Given the description of an element on the screen output the (x, y) to click on. 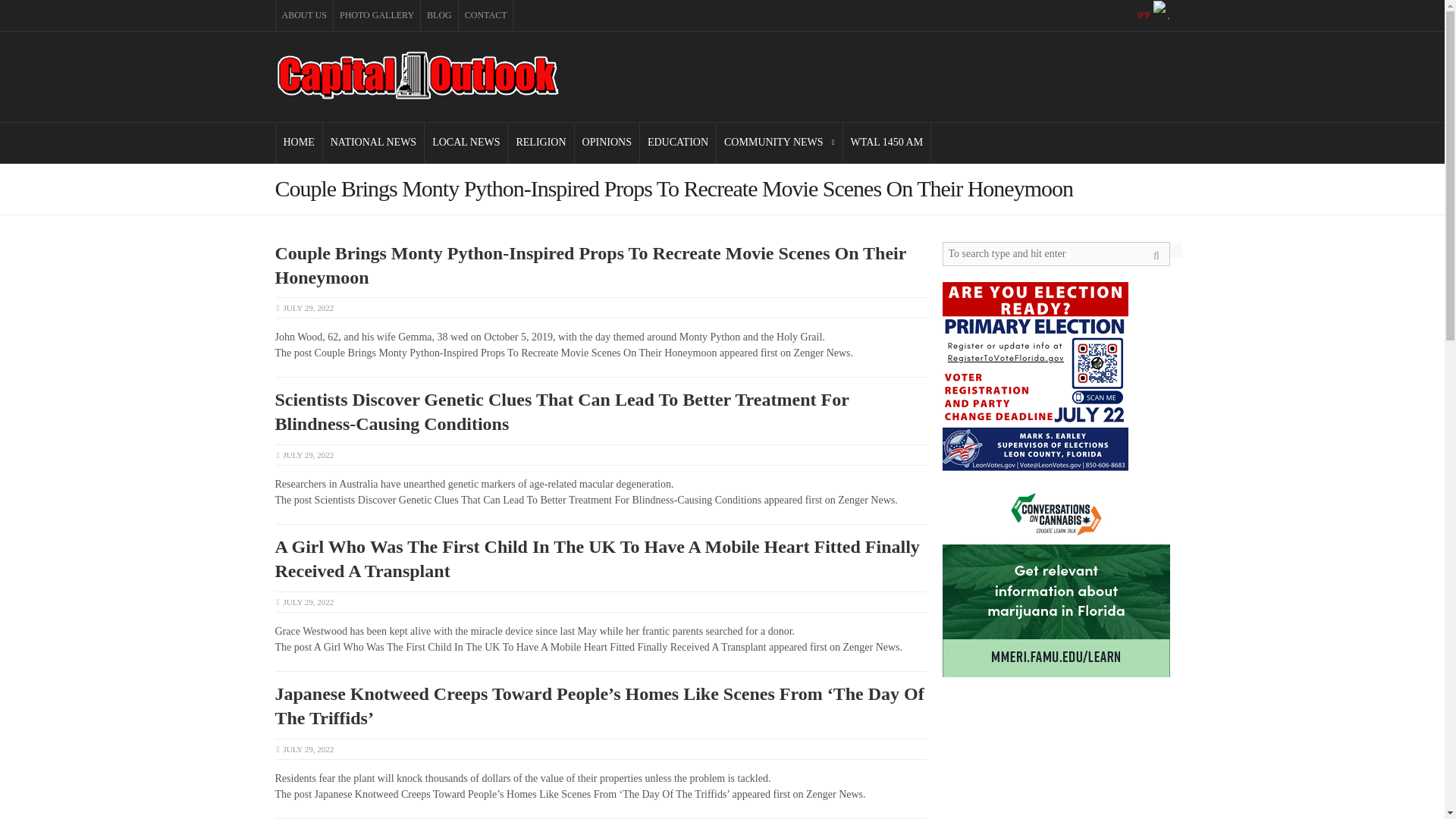
ABOUT US (304, 15)
PHOTO GALLERY (376, 15)
BLOG (439, 15)
EDUCATION (678, 142)
OPINIONS (607, 142)
NATIONAL NEWS (373, 142)
CONTACT (485, 15)
HOME (298, 142)
RELIGION (540, 142)
WTAL 1450 AM (887, 142)
COMMUNITY NEWS (779, 142)
LOCAL NEWS (465, 142)
